Given the description of an element on the screen output the (x, y) to click on. 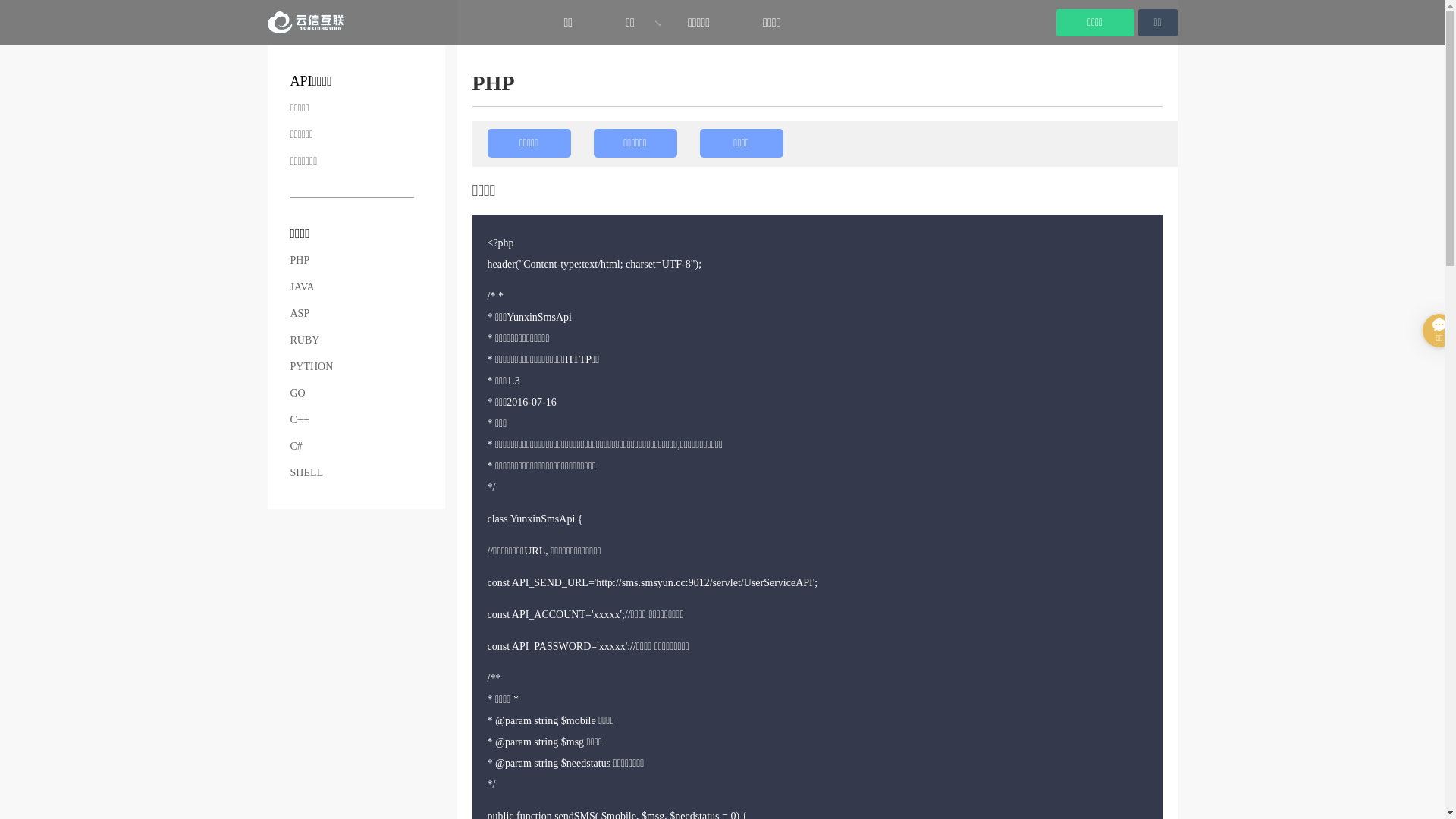
ASP Element type: text (299, 313)
PHP Element type: text (299, 260)
C++ Element type: text (298, 419)
GO Element type: text (296, 392)
JAVA Element type: text (301, 286)
PYTHON Element type: text (310, 366)
C# Element type: text (295, 445)
SHELL Element type: text (306, 472)
RUBY Element type: text (304, 339)
